Given the description of an element on the screen output the (x, y) to click on. 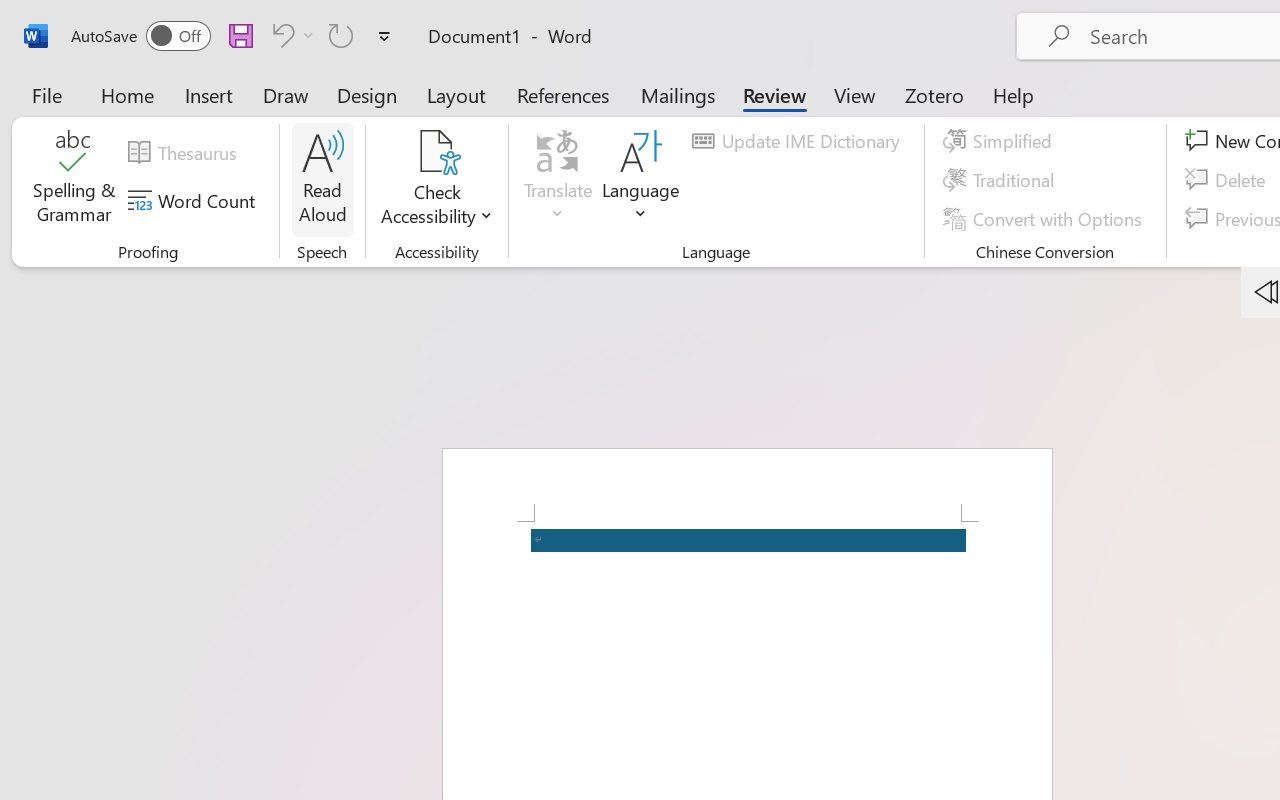
Undo Apply Quick Style Set (280, 35)
Spelling & Grammar (74, 180)
Check Accessibility (436, 151)
Translate (558, 179)
Update IME Dictionary... (799, 141)
Undo Apply Quick Style Set (290, 35)
Read Aloud (322, 179)
Delete (1227, 179)
